Given the description of an element on the screen output the (x, y) to click on. 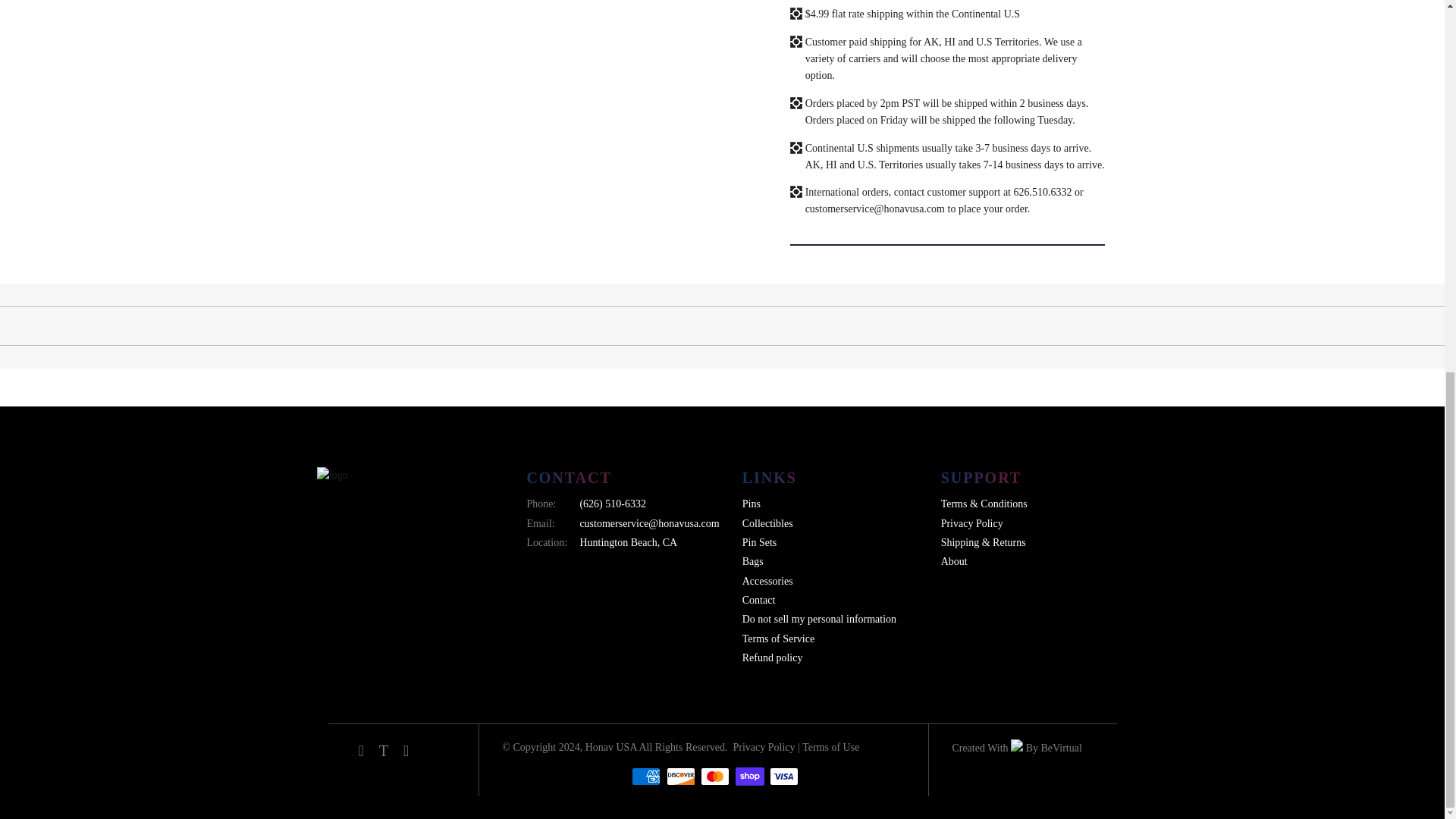
Honav USA on Instagram (406, 752)
Discover (680, 776)
Shop Pay (749, 776)
American Express (646, 776)
Mastercard (714, 776)
Visa (783, 776)
Honav USA on Twitter (383, 752)
Terms of Service (830, 747)
Privacy Policy (763, 747)
Honav USA on Facebook (360, 752)
